Given the description of an element on the screen output the (x, y) to click on. 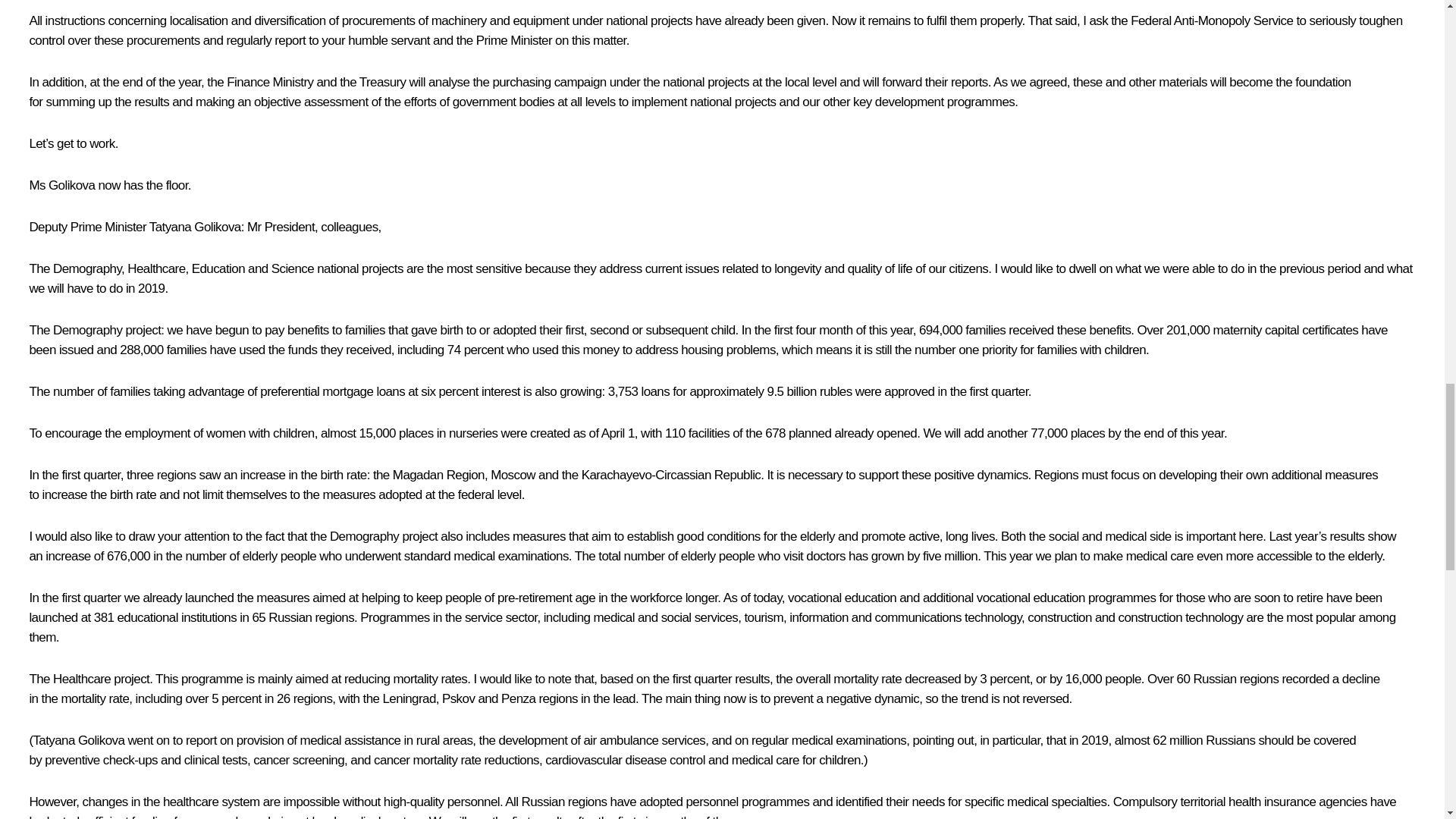
Tatyana Golikova (195, 227)
